Given the description of an element on the screen output the (x, y) to click on. 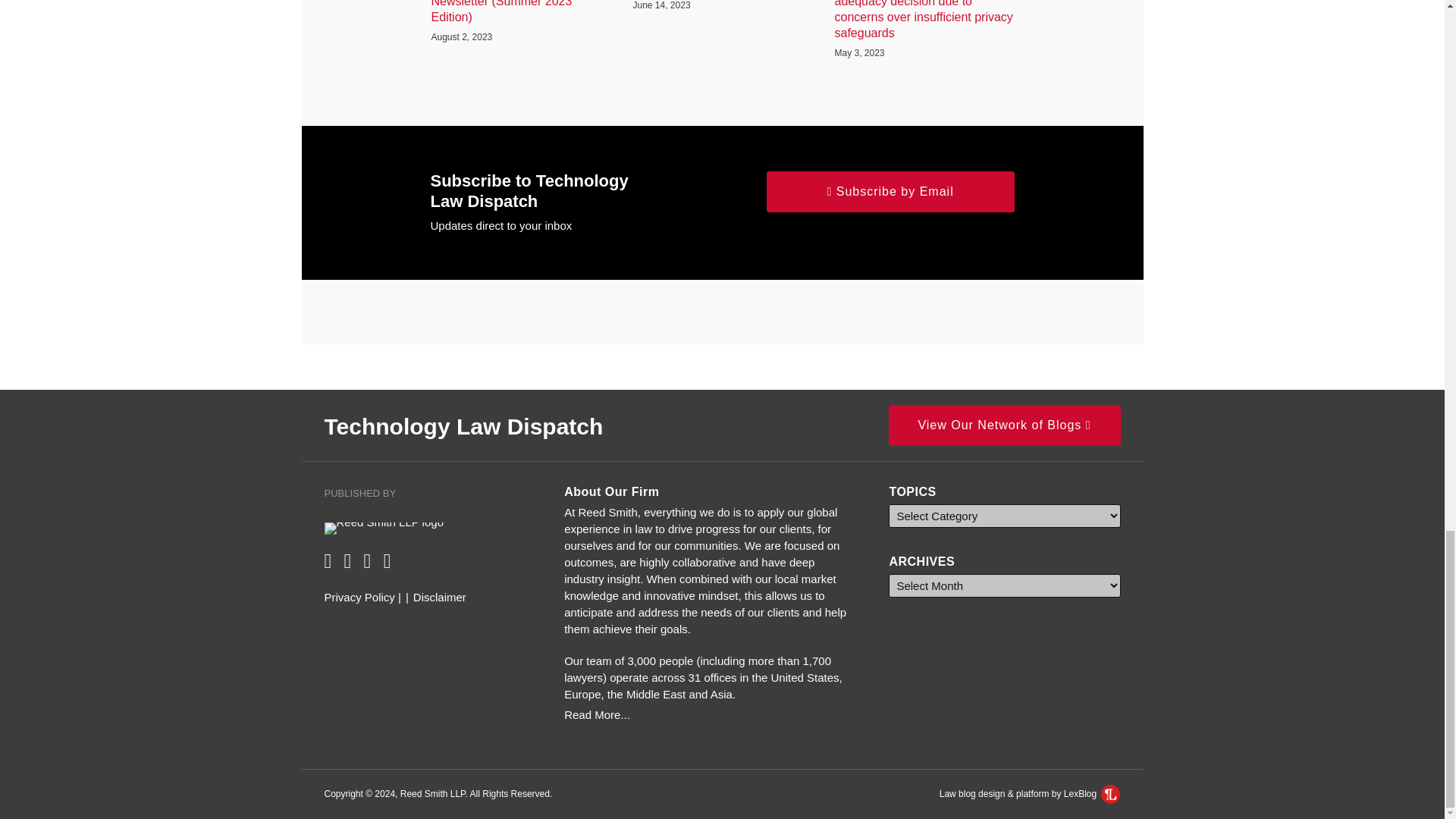
View Our Network of Blogs (1004, 424)
Technology Law Dispatch (464, 426)
LexBlog Logo (1109, 793)
Subscribe by Email (890, 191)
